Given the description of an element on the screen output the (x, y) to click on. 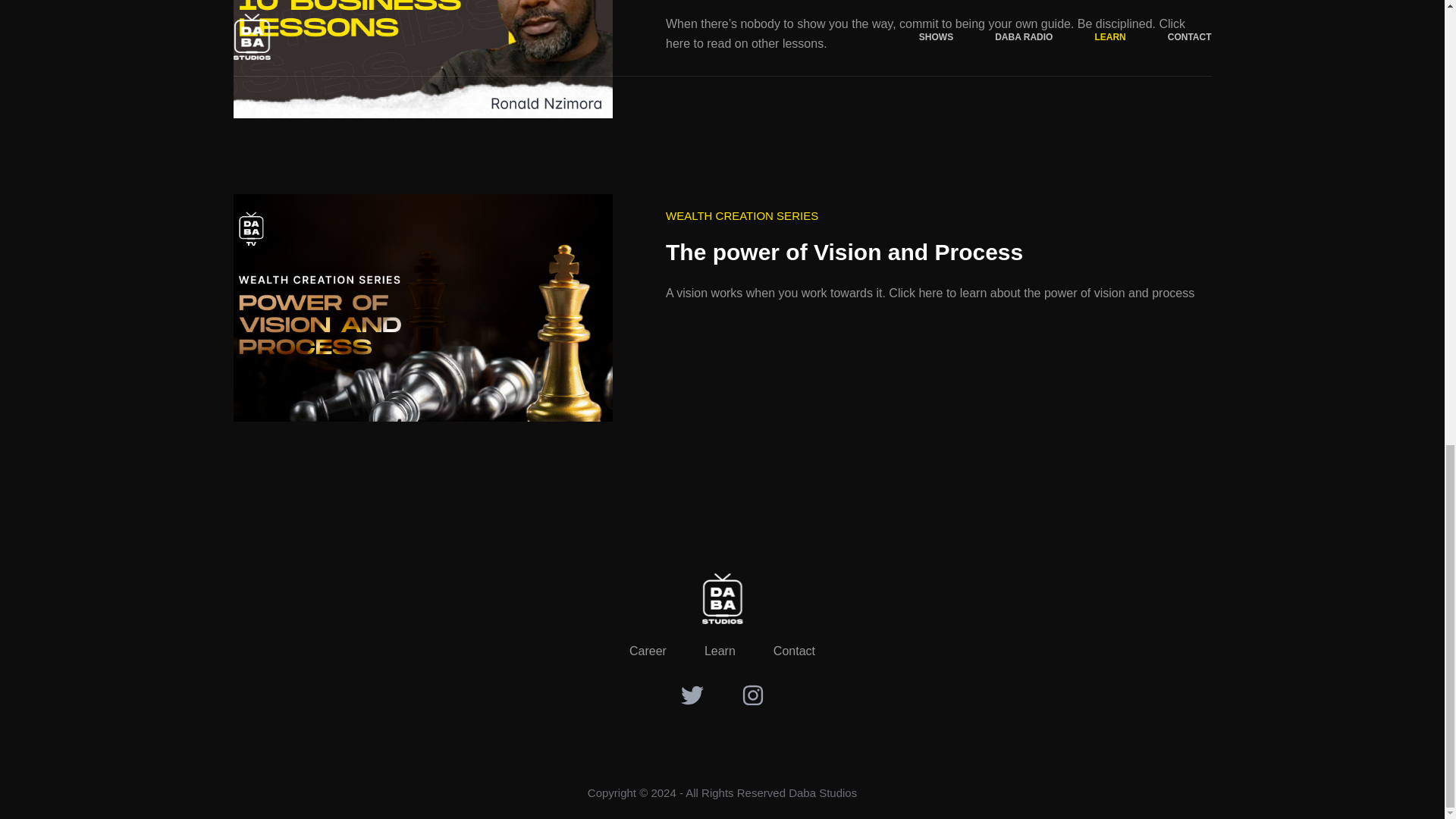
Contact (794, 650)
10 Business Lessons From The Sage, Ronald Nzimora (422, 58)
The power of Vision and Process (422, 307)
Career (647, 650)
Learn (719, 650)
The power of Vision and Process (932, 252)
WEALTH CREATION SERIES (741, 216)
The power of Vision and Process (932, 252)
